Given the description of an element on the screen output the (x, y) to click on. 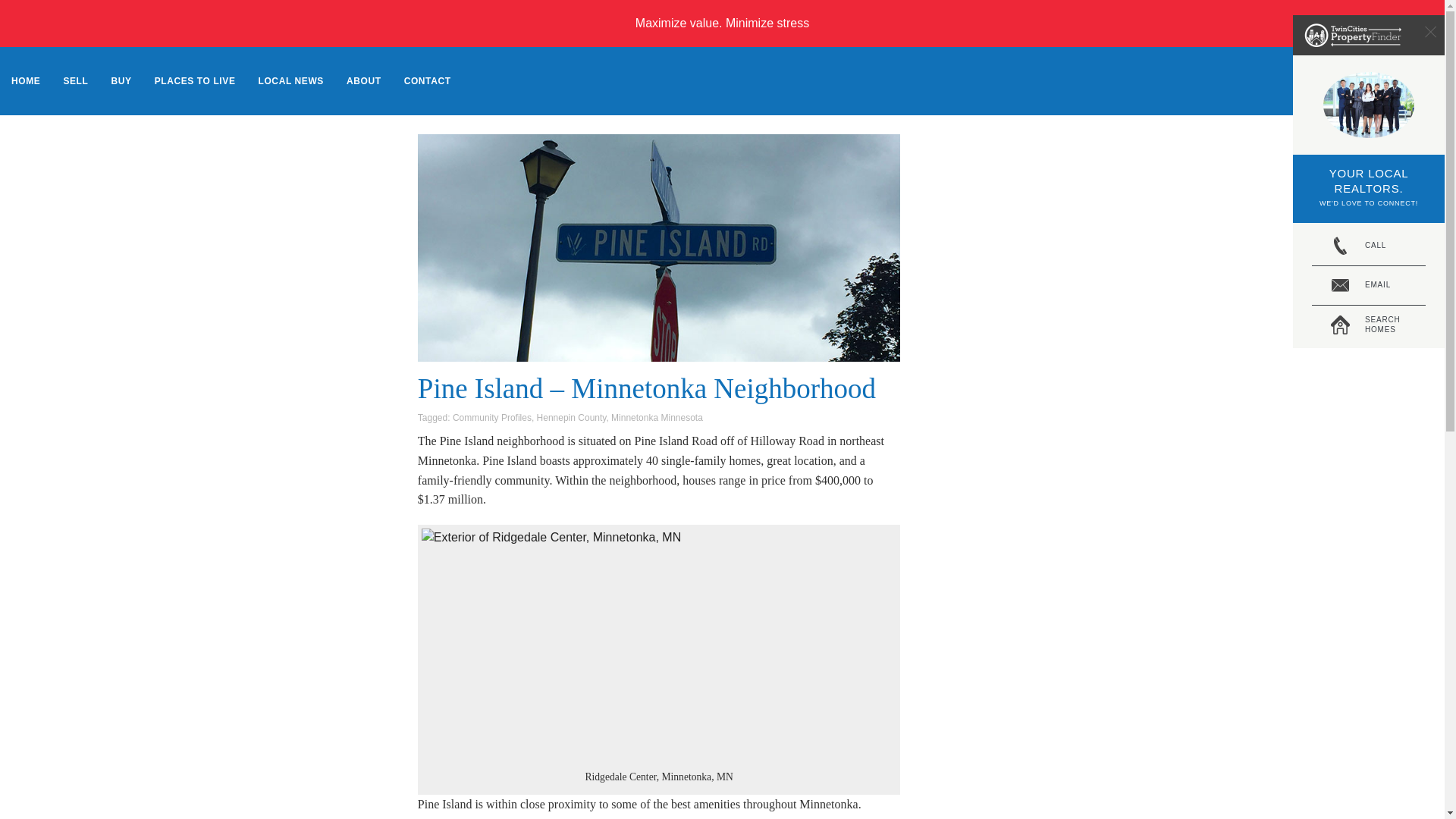
Maximize value. Minimize stress (721, 22)
Community Profiles (491, 417)
LOCAL NEWS (290, 80)
PLACES TO LIVE (194, 80)
CALL (1368, 246)
EMAIL (1368, 285)
Hennepin County (1368, 324)
CONTACT (572, 417)
Minnetonka Minnesota (428, 80)
